Given the description of an element on the screen output the (x, y) to click on. 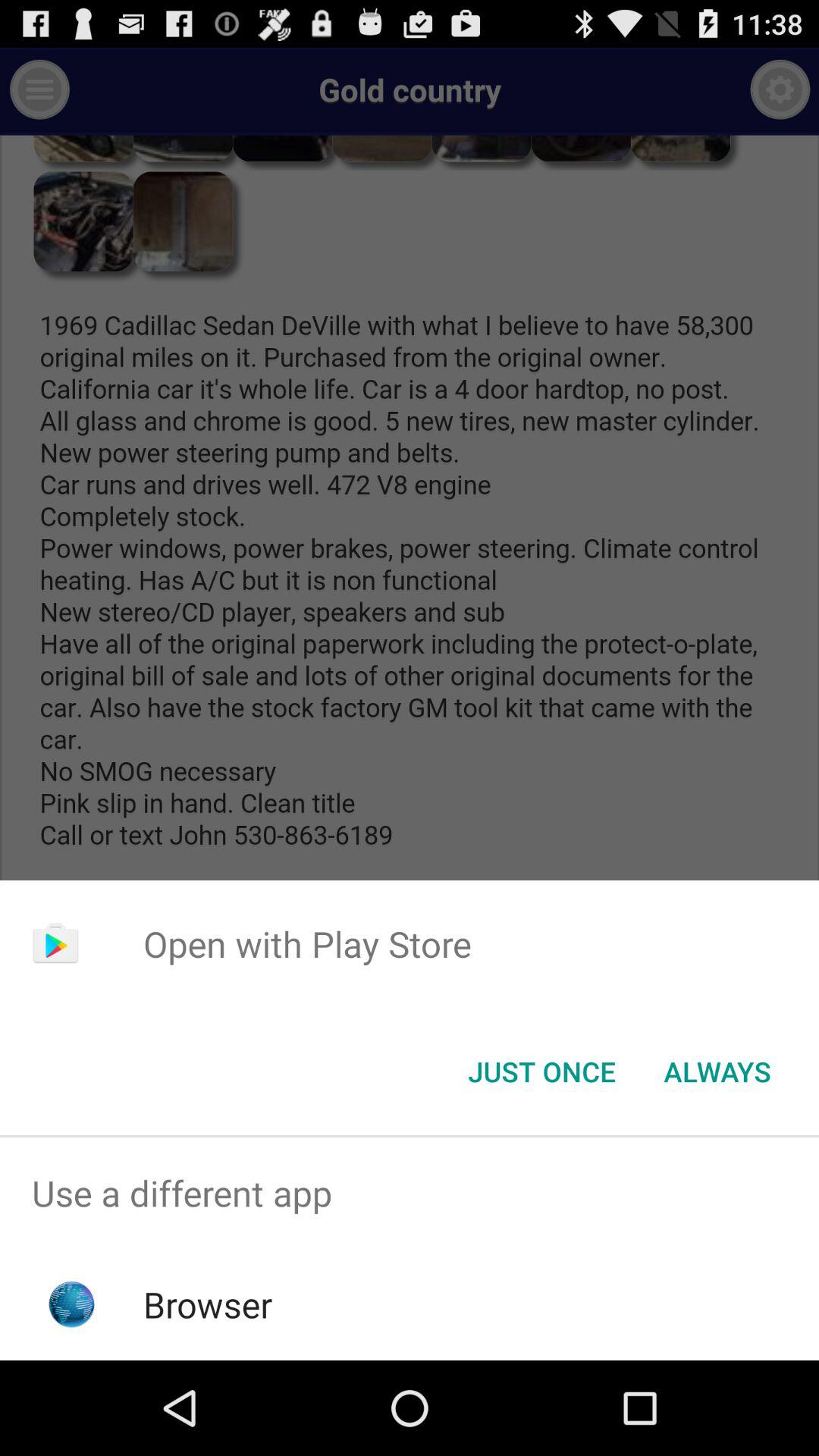
swipe until the use a different icon (409, 1192)
